Given the description of an element on the screen output the (x, y) to click on. 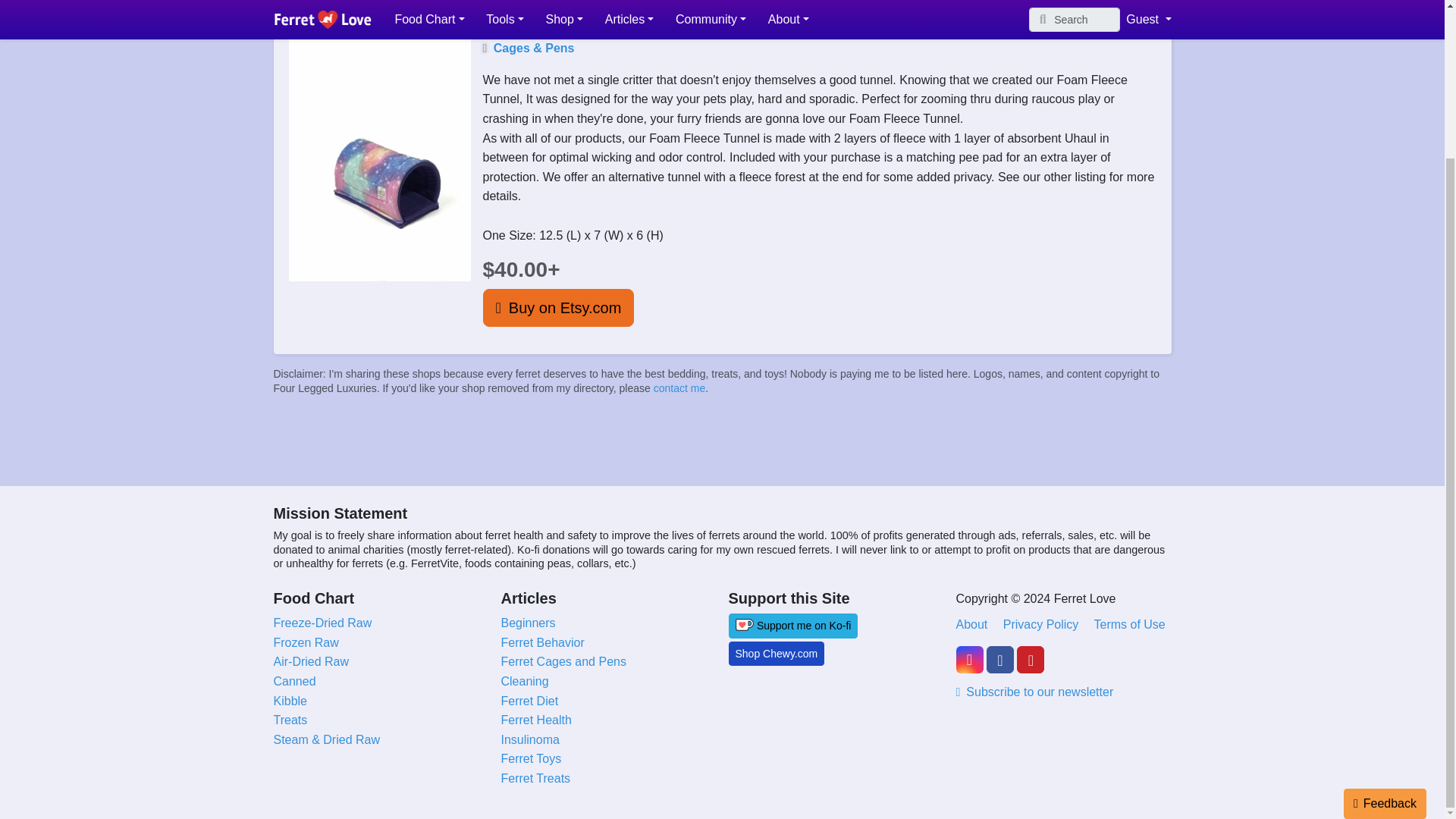
contact me (678, 387)
Share (439, 7)
Add to List (371, 7)
Buy on Etsy.com (557, 307)
Favorite (302, 7)
